Given the description of an element on the screen output the (x, y) to click on. 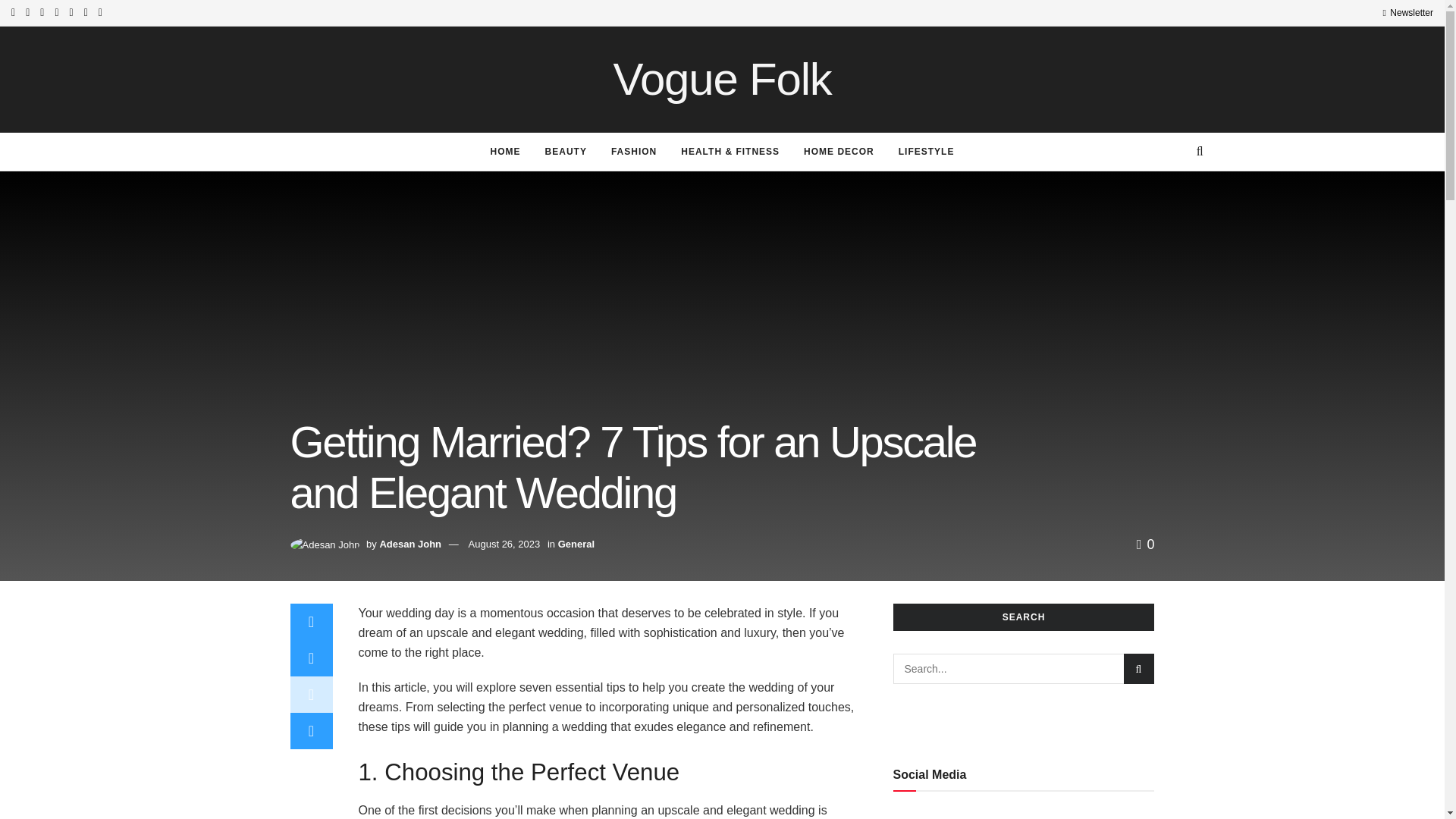
Vogue Folk (721, 79)
BEAUTY (565, 151)
FASHION (633, 151)
Newsletter (1407, 12)
LIFESTYLE (926, 151)
HOME (505, 151)
HOME DECOR (839, 151)
